Given the description of an element on the screen output the (x, y) to click on. 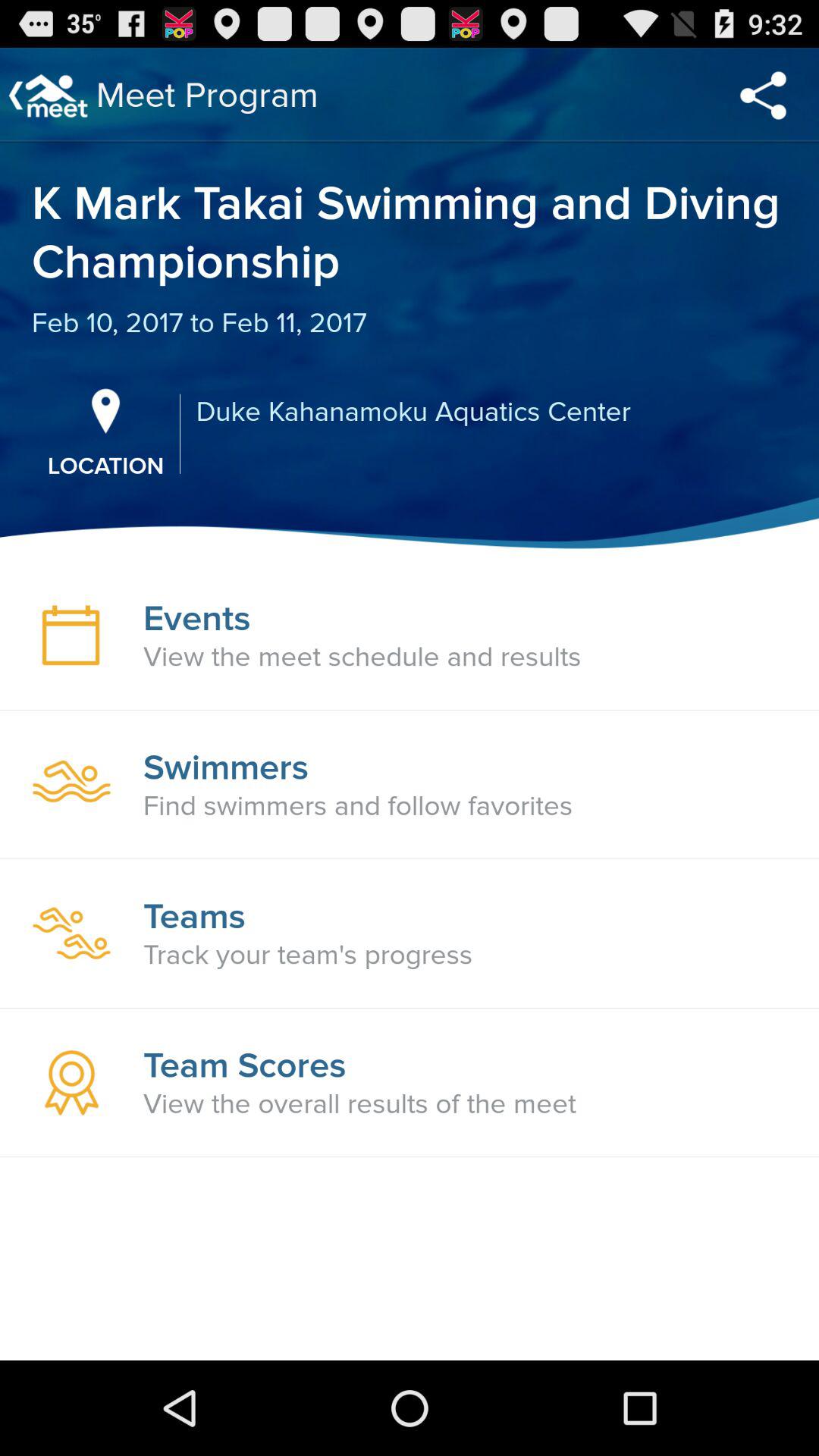
scroll until find swimmers and (357, 805)
